Given the description of an element on the screen output the (x, y) to click on. 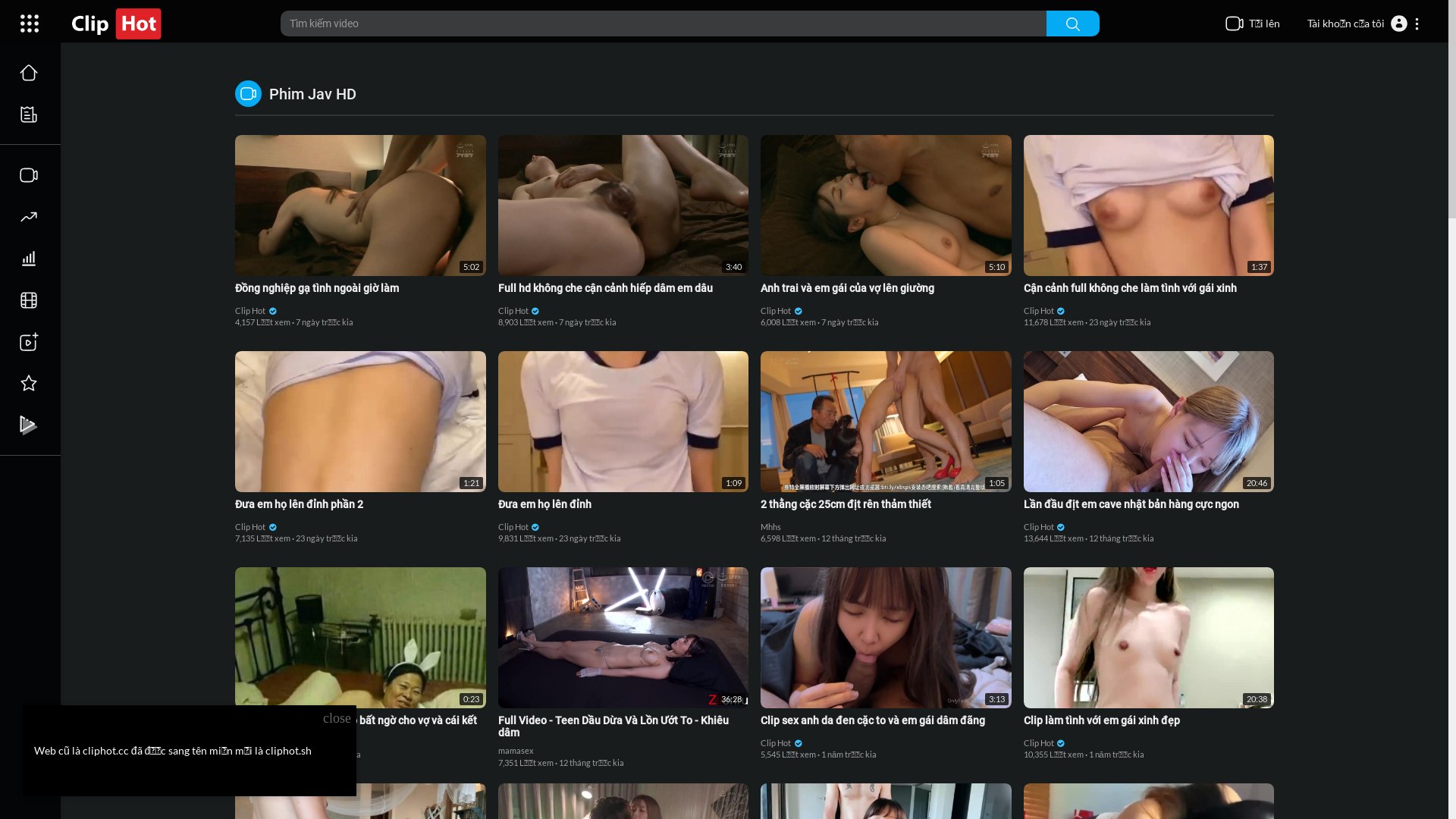
Clip Hot Element type: text (518, 310)
Mhhs Element type: text (770, 526)
close Element type: text (336, 718)
Clip Hot Element type: text (1044, 742)
1:37 Element type: text (1148, 205)
5:02 Element type: text (360, 205)
3:13 Element type: text (885, 637)
20:46 Element type: text (1148, 421)
36:28 Element type: text (622, 637)
onggianoel Element type: text (255, 742)
3:40 Element type: text (622, 205)
Clip Hot Element type: text (781, 310)
Clip Hot Element type: text (1044, 526)
20:38 Element type: text (1148, 637)
1:21 Element type: text (360, 421)
Clip Hot Element type: text (518, 526)
Clip Hot Element type: text (256, 310)
1:09 Element type: text (622, 421)
1:05 Element type: text (885, 421)
mamasex Element type: text (515, 750)
Clip Hot Element type: text (1044, 310)
Clip Hot Element type: text (256, 526)
Clip Hot Element type: text (781, 742)
5:10 Element type: text (885, 205)
0:23 Element type: text (360, 637)
